Given the description of an element on the screen output the (x, y) to click on. 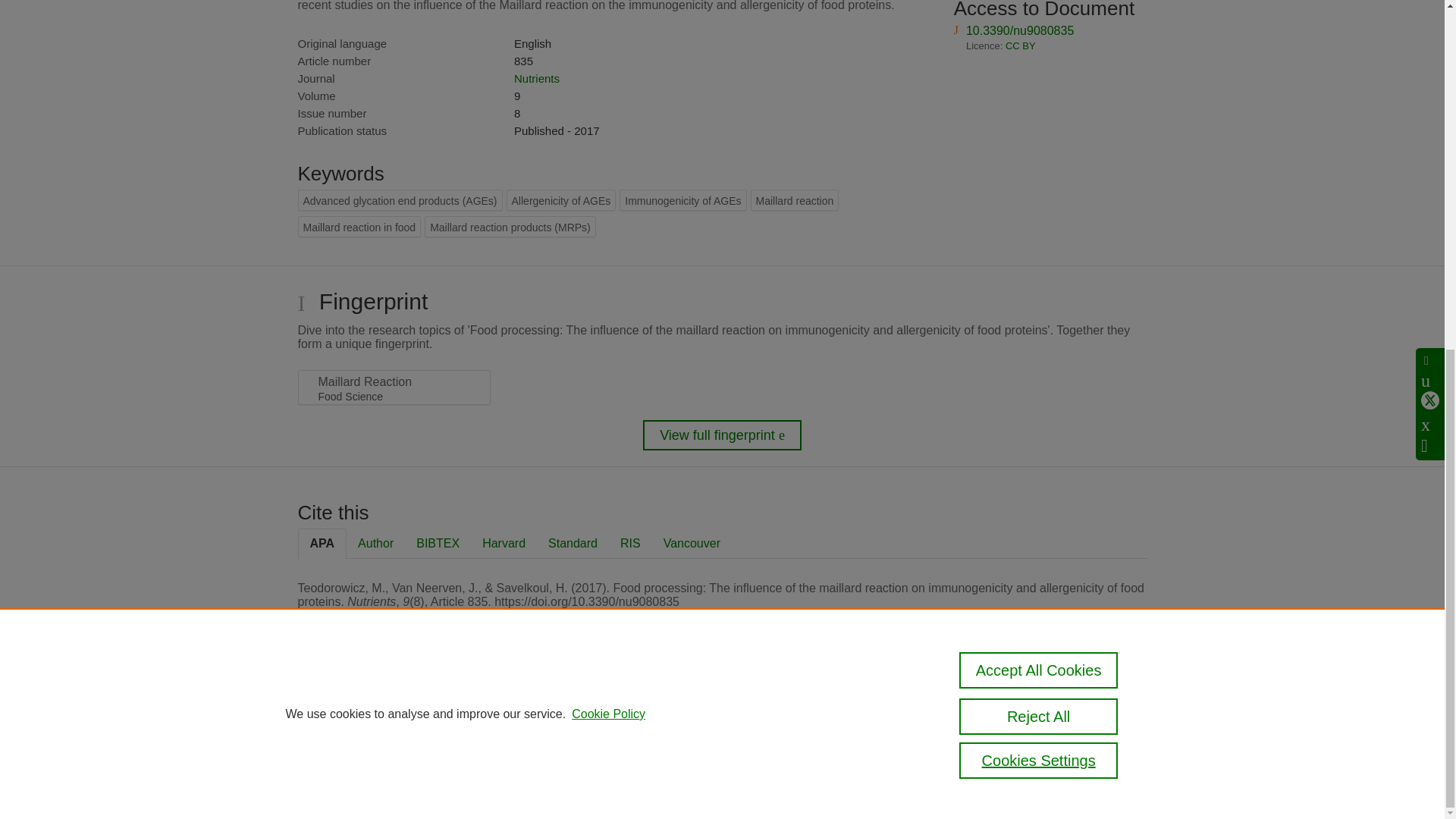
use of cookies (796, 759)
Scopus (394, 707)
CC BY (1020, 45)
View full fingerprint (722, 435)
Pure (362, 707)
Nutrients (536, 78)
Elsevier B.V. (506, 727)
